Given the description of an element on the screen output the (x, y) to click on. 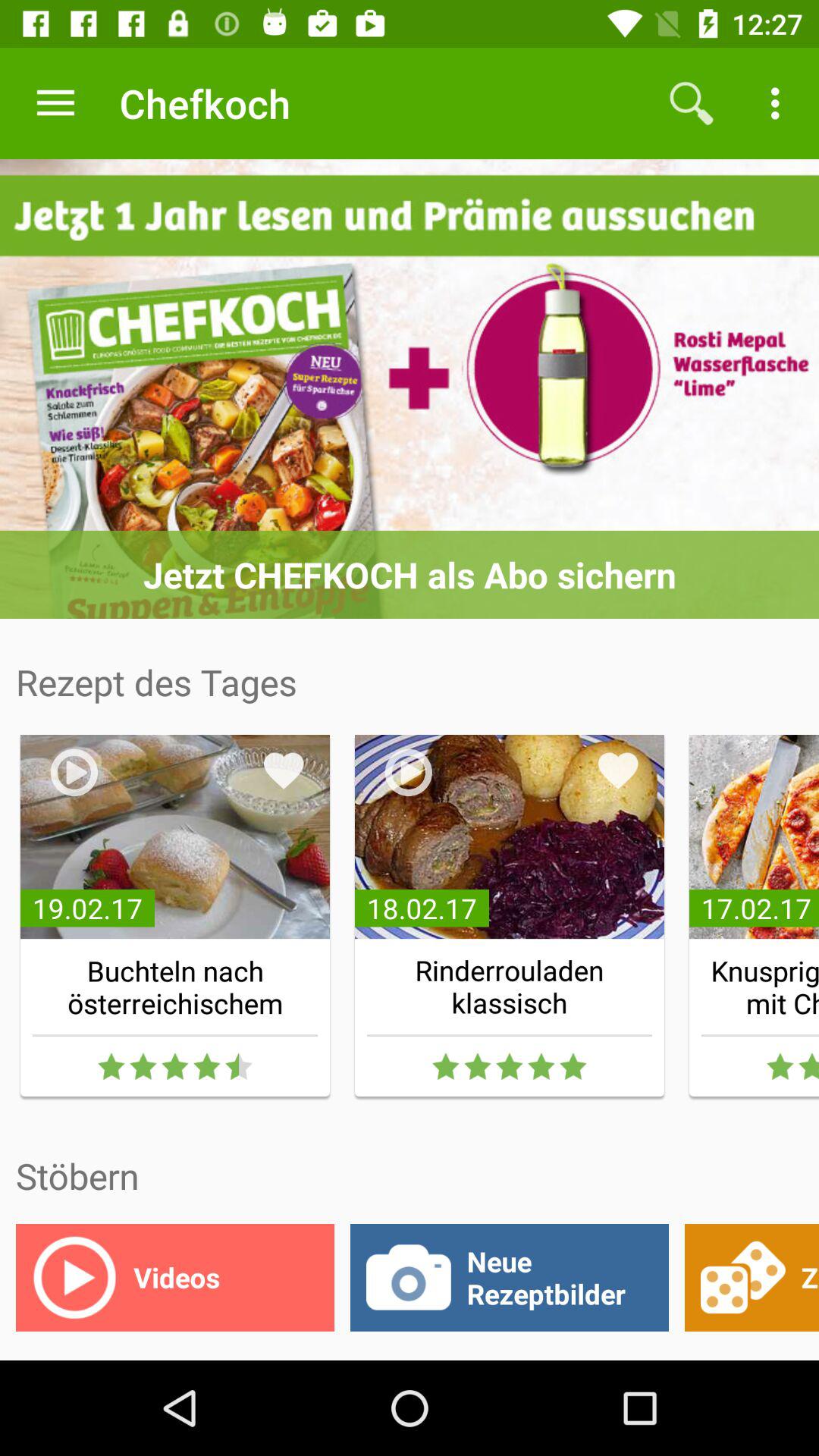
choose icon to the left of chefkoch app (55, 103)
